Given the description of an element on the screen output the (x, y) to click on. 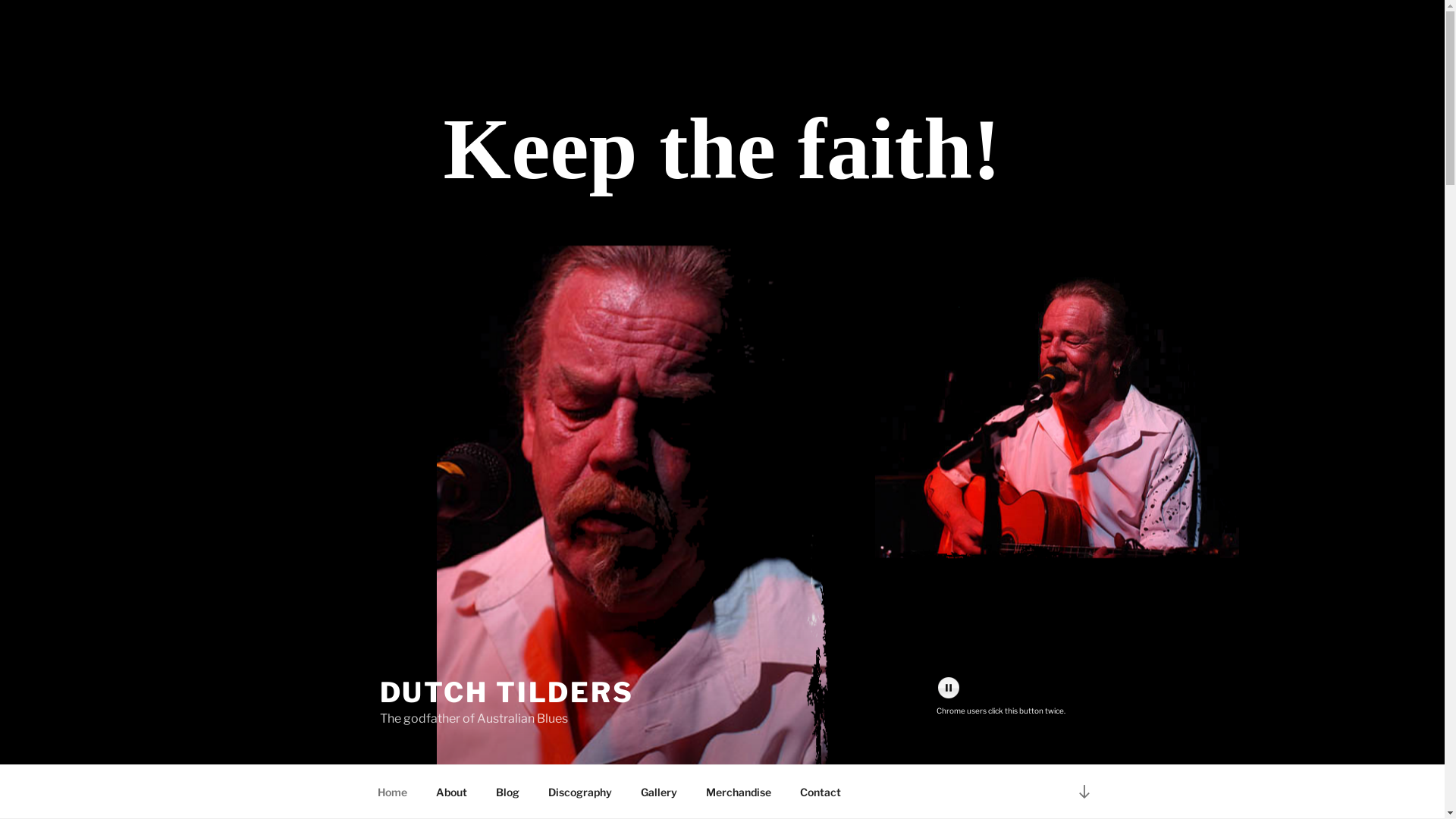
About Element type: text (451, 791)
Discography Element type: text (580, 791)
Gallery Element type: text (658, 791)
Blog Element type: text (507, 791)
Contact Element type: text (820, 791)
Merchandise Element type: text (738, 791)
Home Element type: text (392, 791)
Scroll down to content Element type: text (1083, 790)
DUTCH TILDERS Element type: text (506, 692)
